Given the description of an element on the screen output the (x, y) to click on. 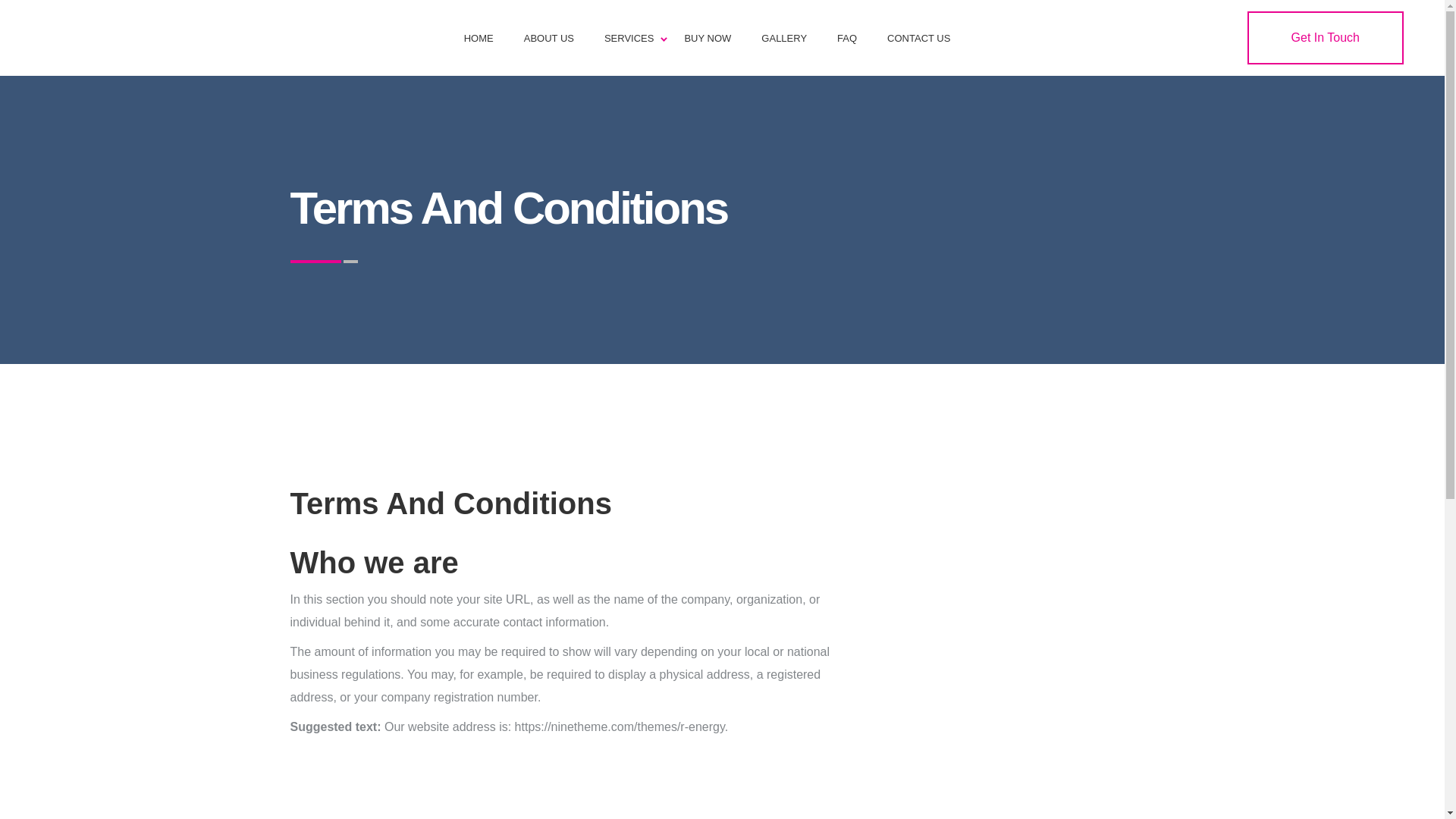
CONTACT US (918, 38)
SERVICES (628, 38)
Get In Touch (1325, 37)
ABOUT US (548, 38)
GALLERY (783, 38)
BUY NOW (707, 38)
